Given the description of an element on the screen output the (x, y) to click on. 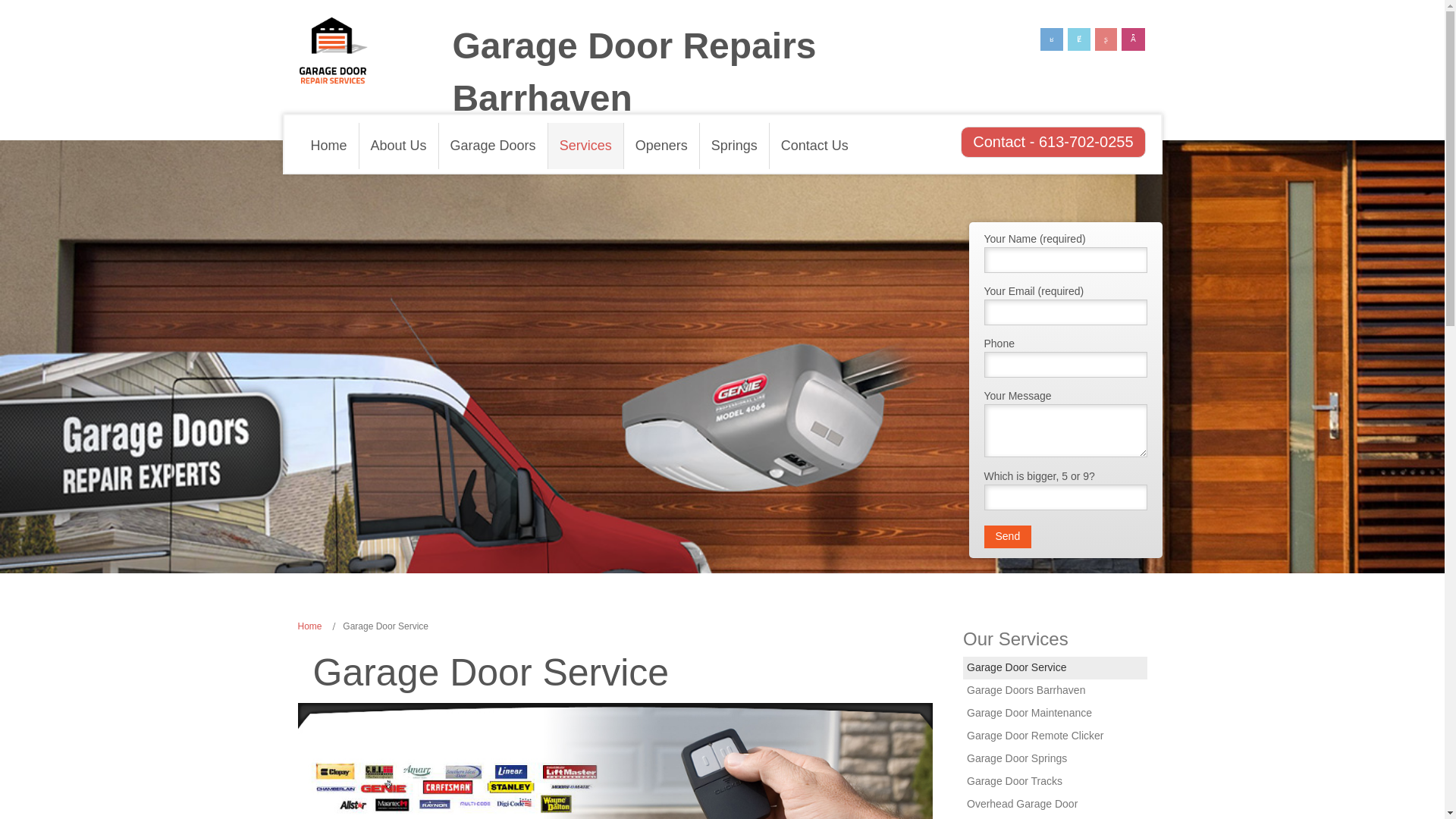
Home (328, 145)
Send (1008, 536)
Springs (735, 145)
Openers (662, 145)
Services (586, 145)
About Us (399, 145)
Garage Doors (493, 145)
